Given the description of an element on the screen output the (x, y) to click on. 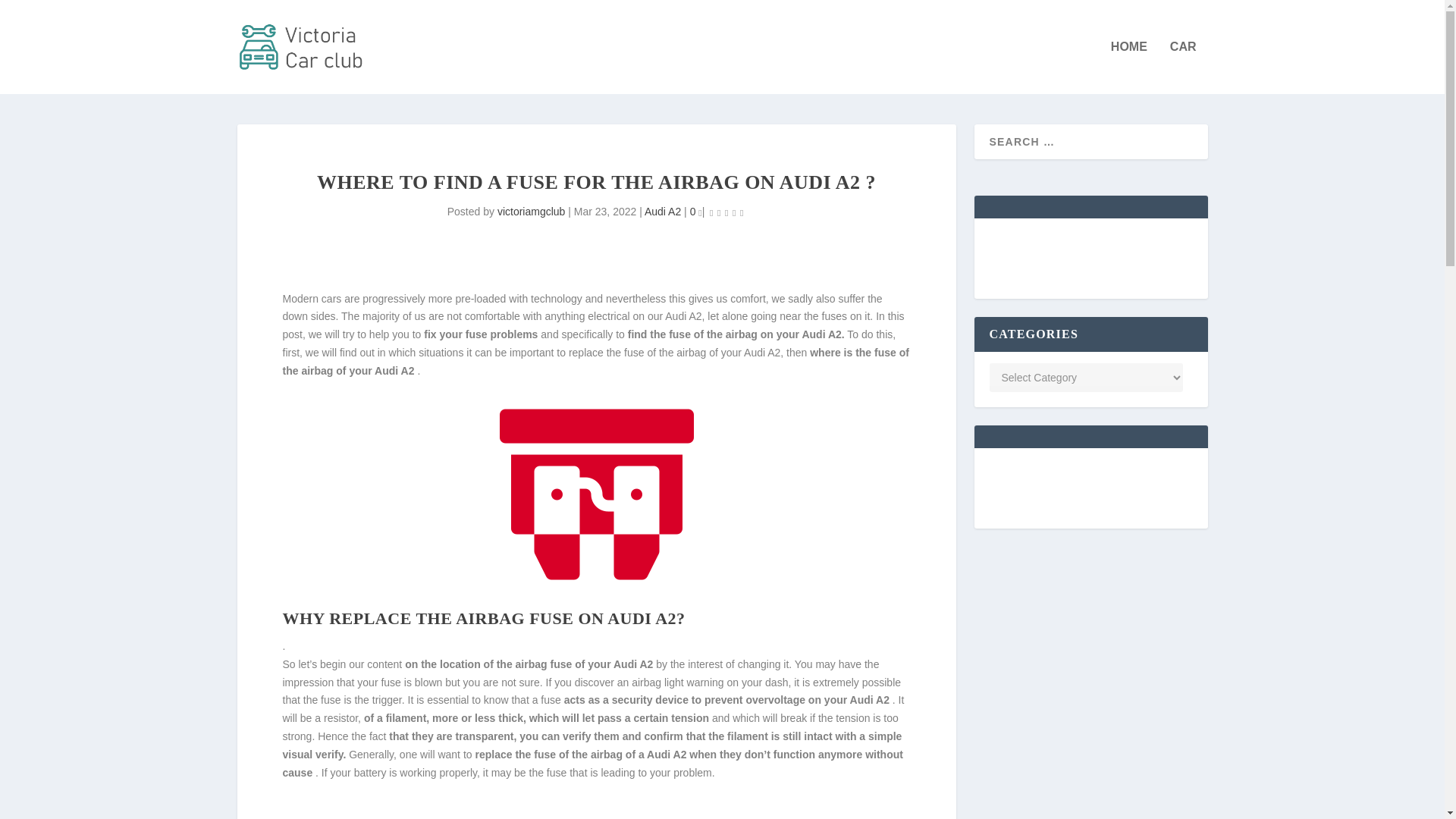
Posts by victoriamgclub (530, 211)
Audi A2 (663, 211)
victoriamgclub (530, 211)
Rating: 0.00 (726, 212)
0 (695, 211)
